Given the description of an element on the screen output the (x, y) to click on. 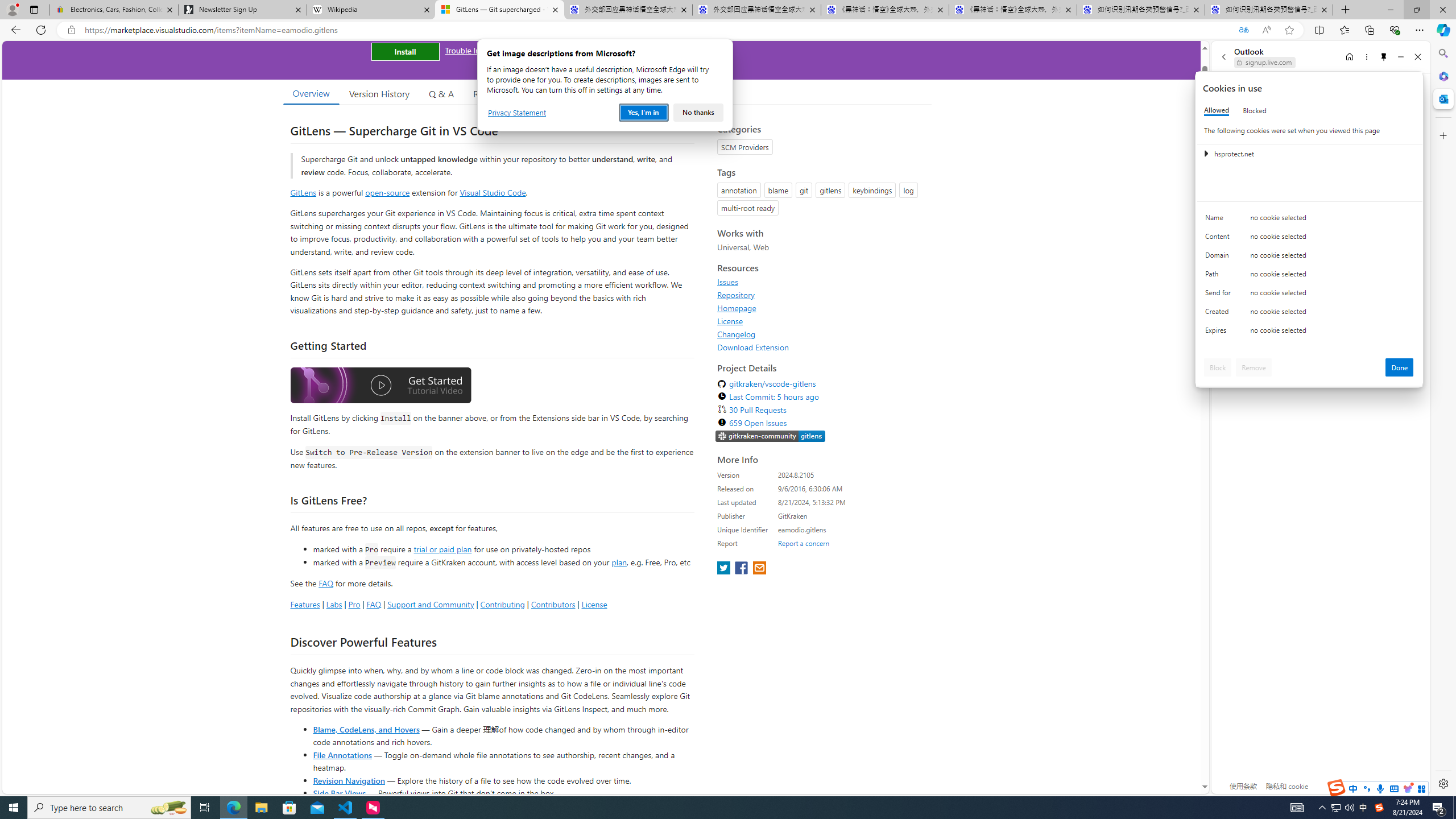
Privacy Statement (516, 112)
Running applications (707, 807)
